Given the description of an element on the screen output the (x, y) to click on. 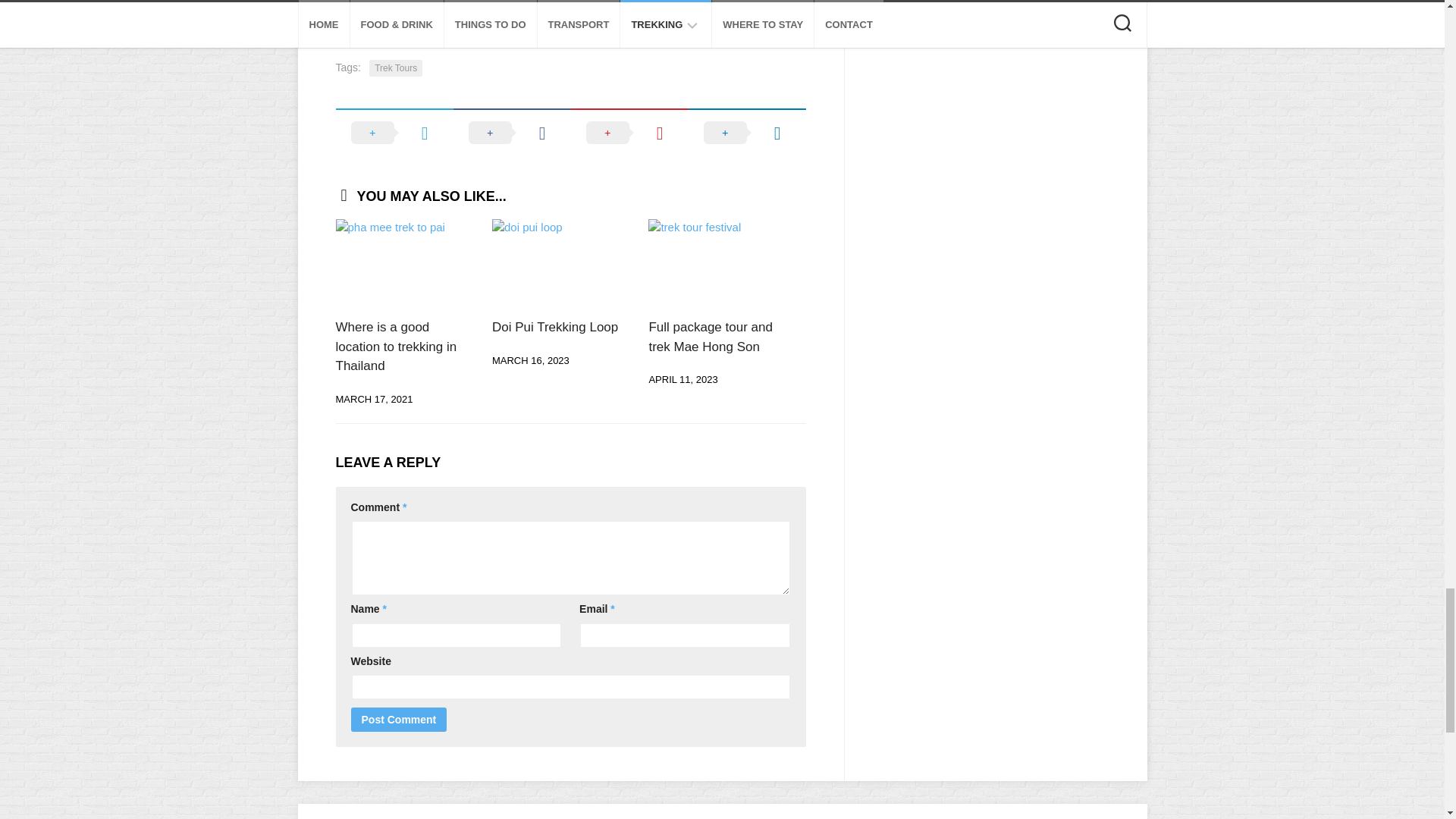
Share on LinkedIn (747, 132)
Trek Tours (395, 67)
Post Comment (398, 719)
Share on Facebook (511, 132)
Share on Pinterest (628, 132)
Share on X (393, 132)
